Given the description of an element on the screen output the (x, y) to click on. 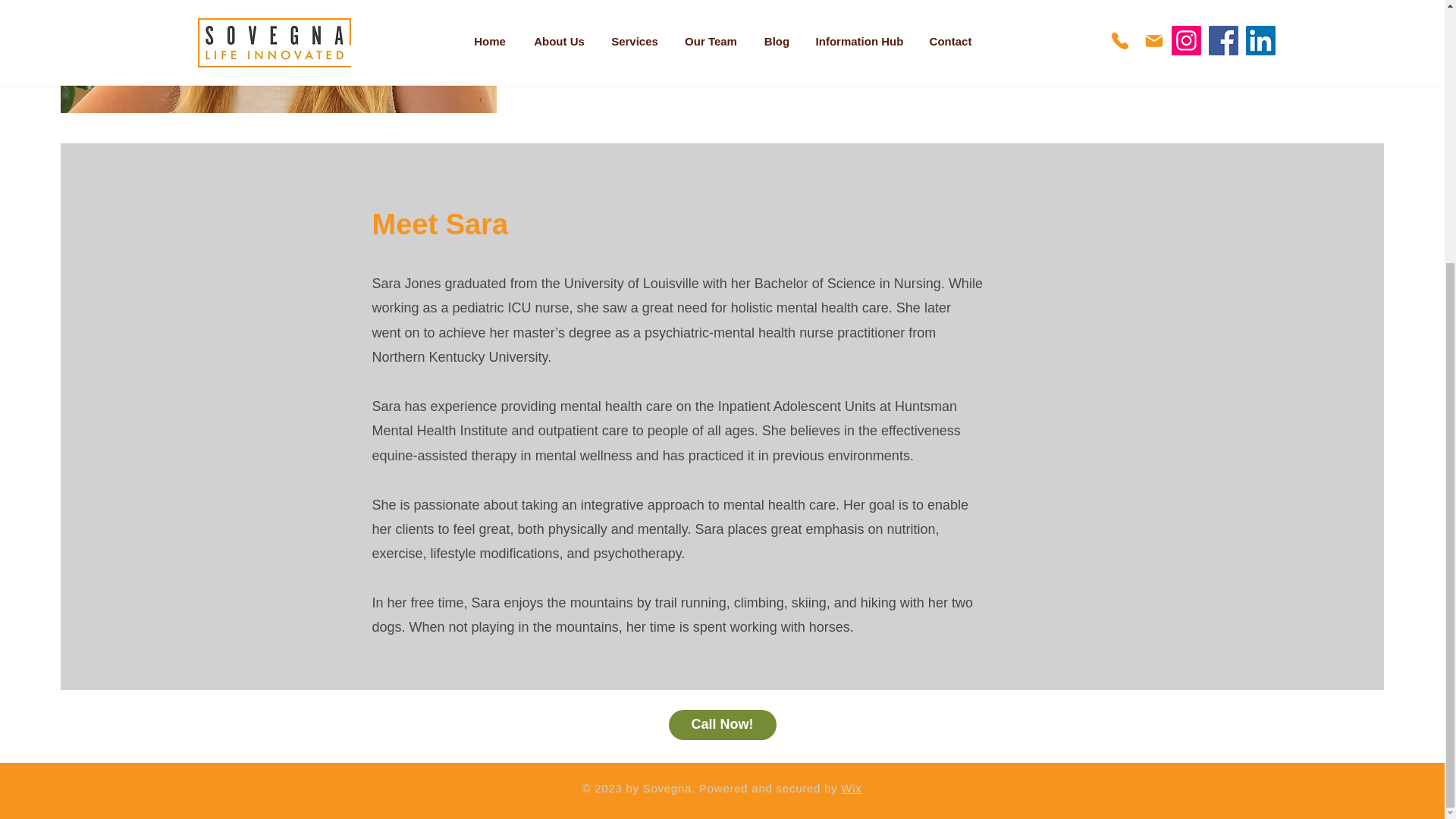
Call Now! (722, 725)
Wix (851, 788)
